Given the description of an element on the screen output the (x, y) to click on. 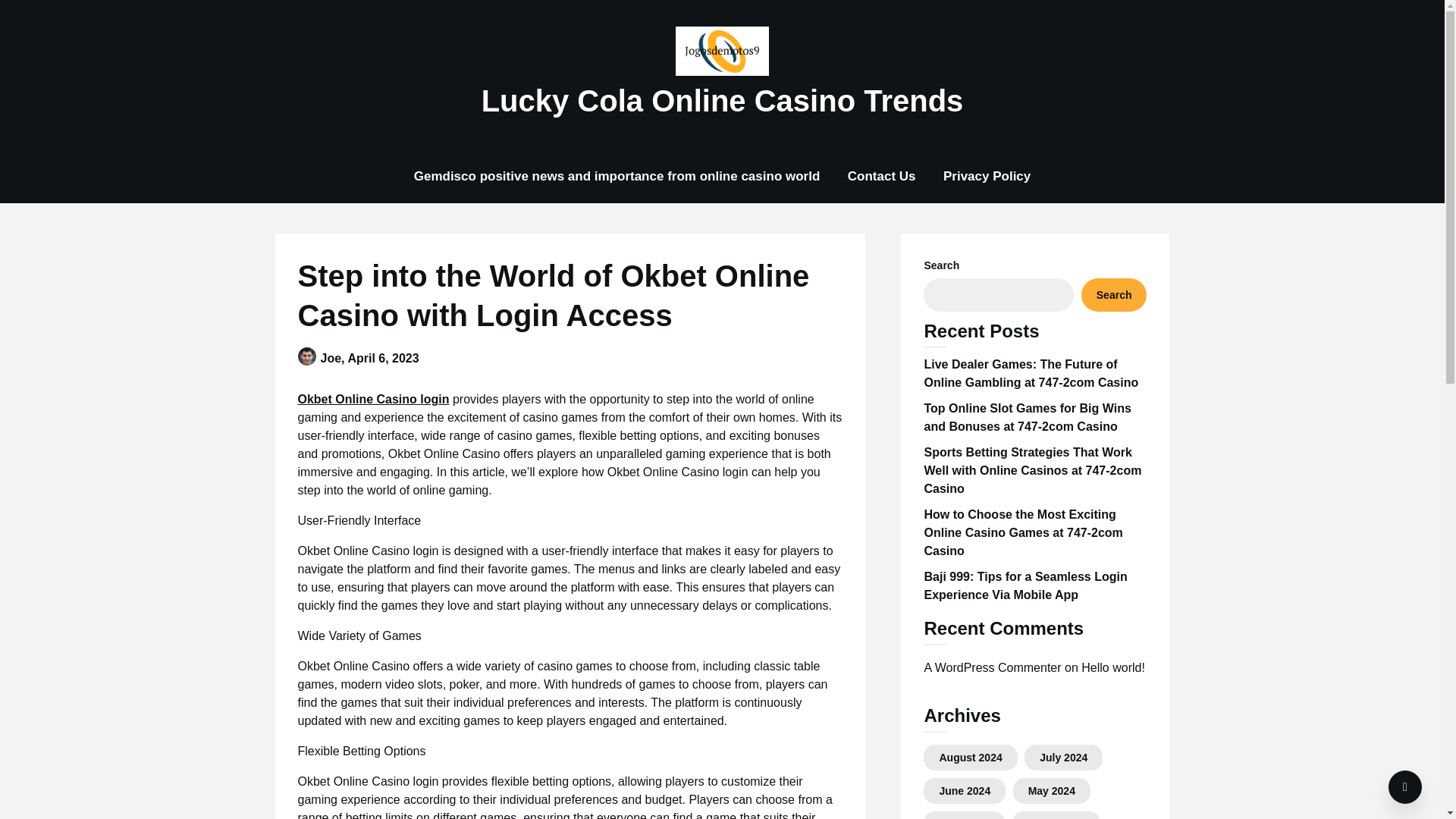
June 2024 (964, 790)
July 2024 (1063, 757)
April 2024 (964, 818)
April 6, 2023 (383, 358)
Lucky Cola Online Casino Trends (722, 100)
May 2024 (1051, 790)
Hello world! (1112, 667)
August 2024 (970, 757)
